Given the description of an element on the screen output the (x, y) to click on. 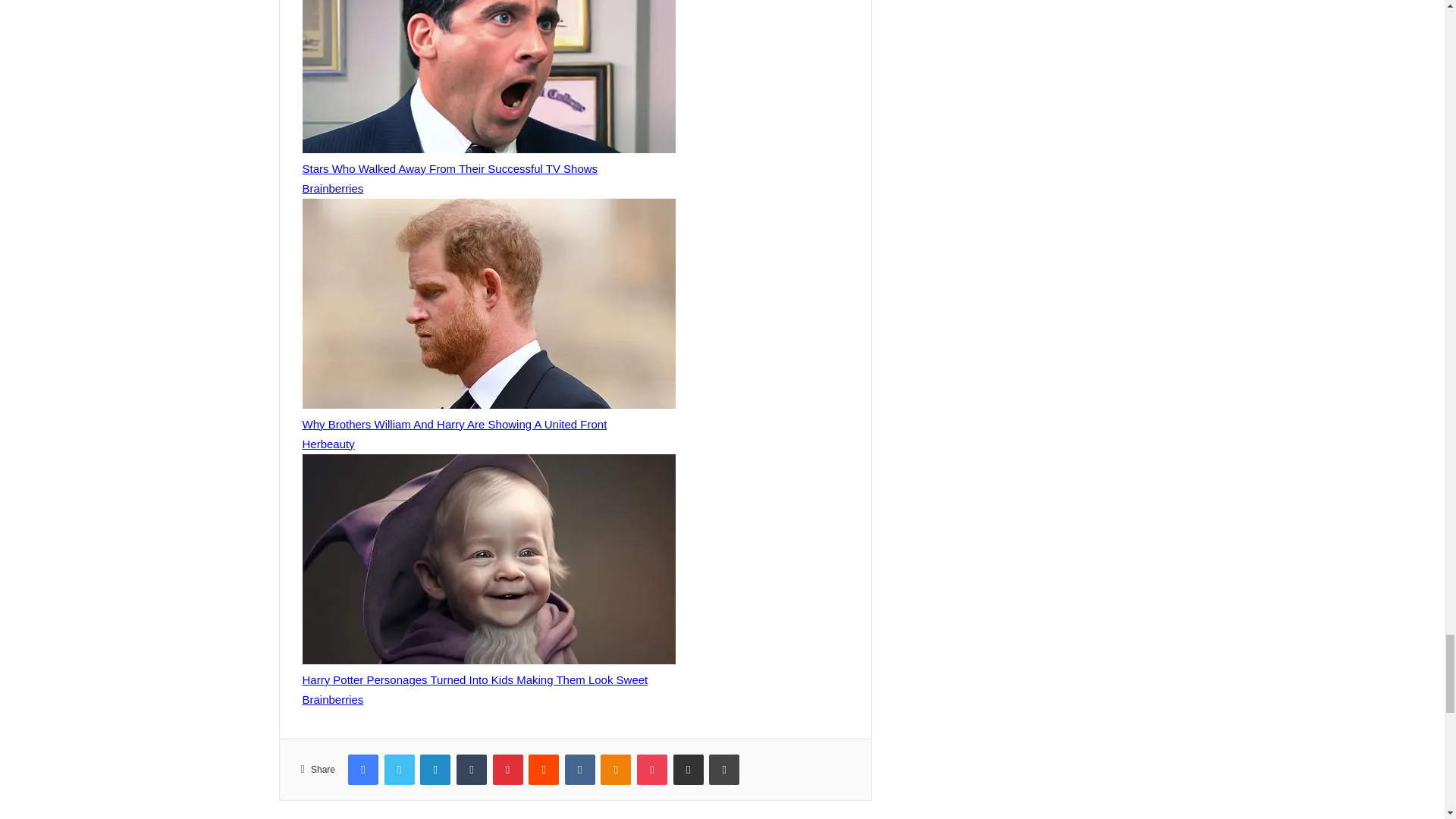
Facebook (362, 769)
Twitter (399, 769)
